Given the description of an element on the screen output the (x, y) to click on. 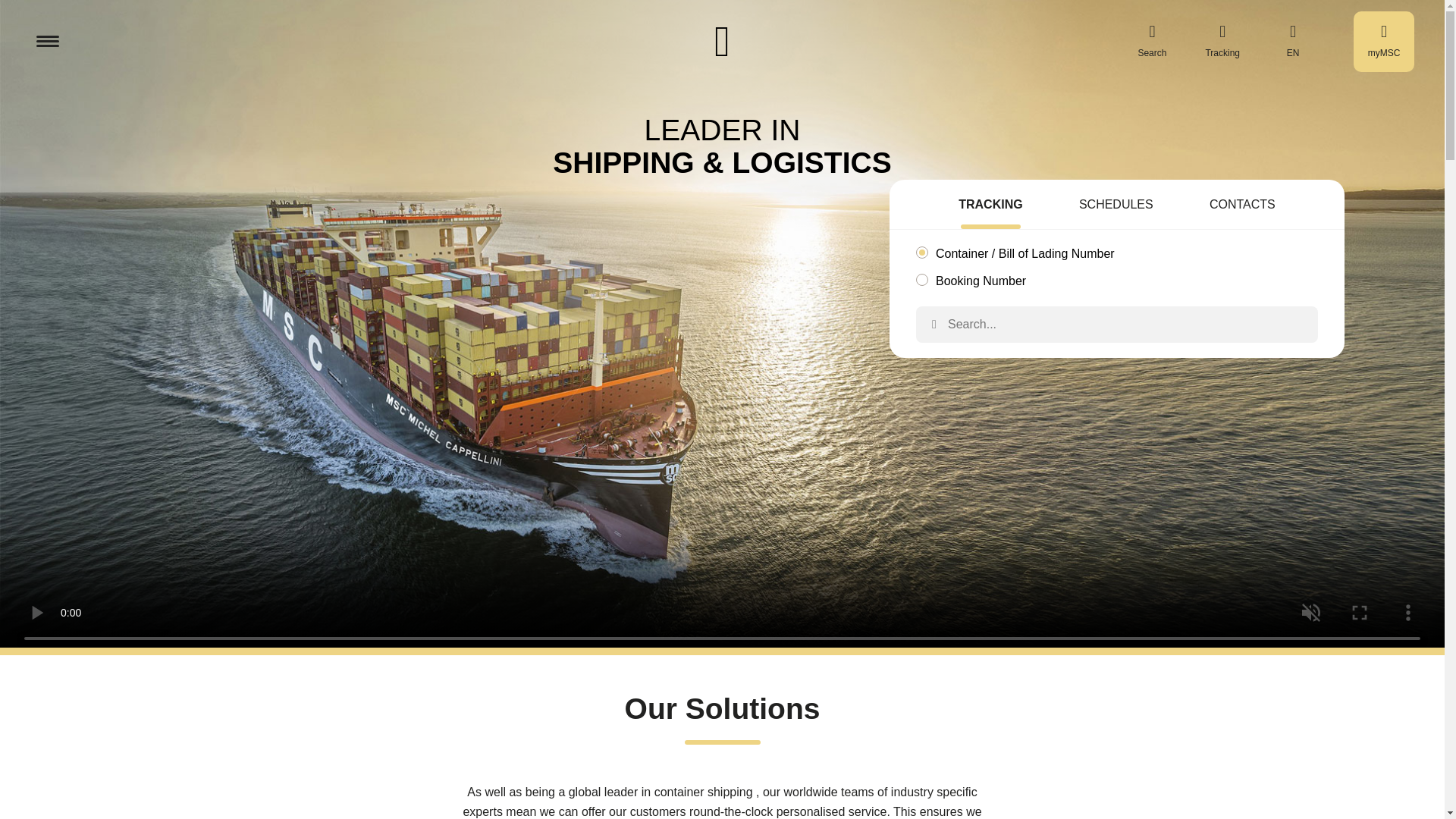
TRACKING (989, 205)
CONTACTS (1241, 205)
SCHEDULES (1116, 205)
